Given the description of an element on the screen output the (x, y) to click on. 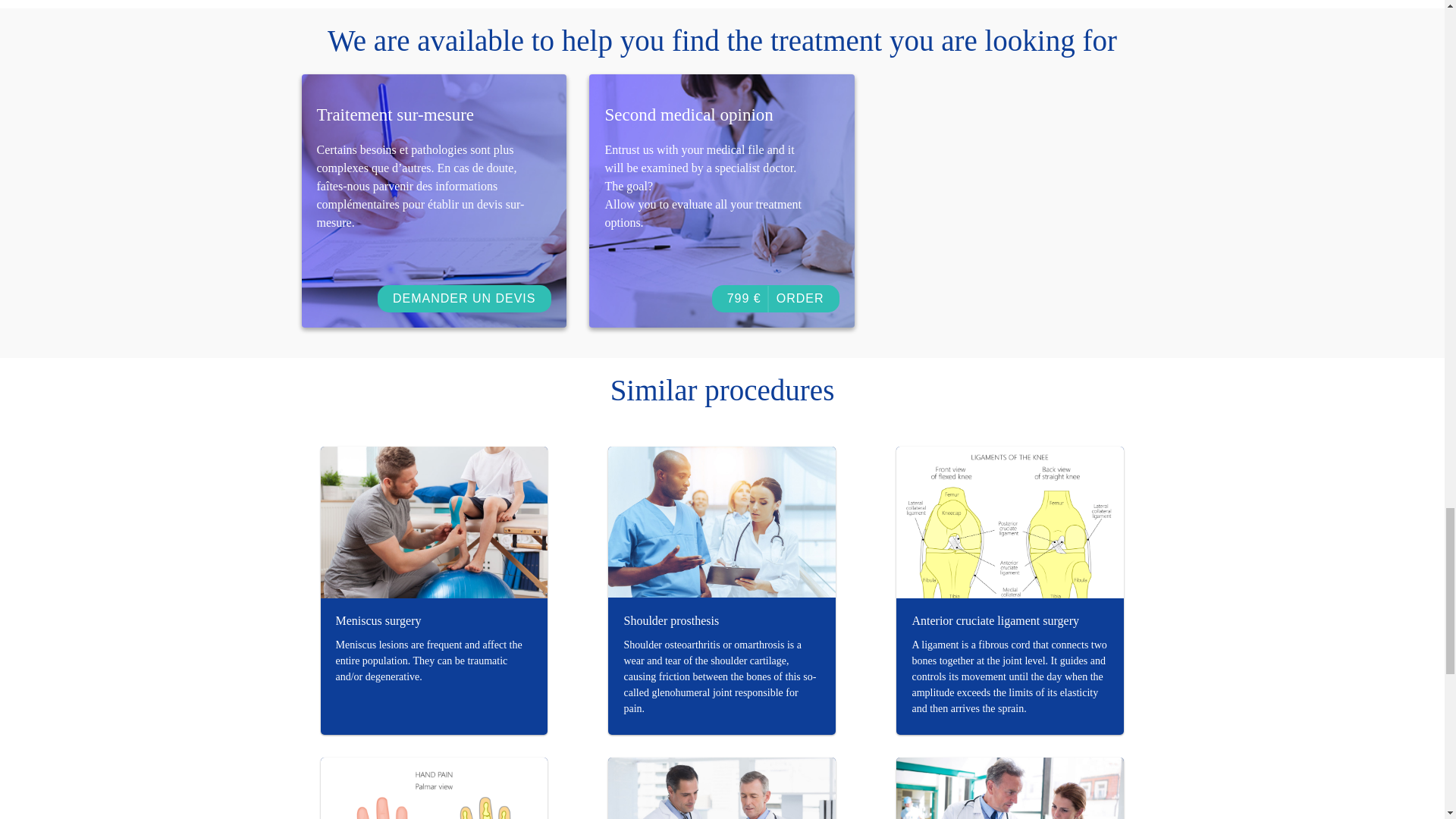
DEMANDER UN DEVIS (464, 298)
